Given the description of an element on the screen output the (x, y) to click on. 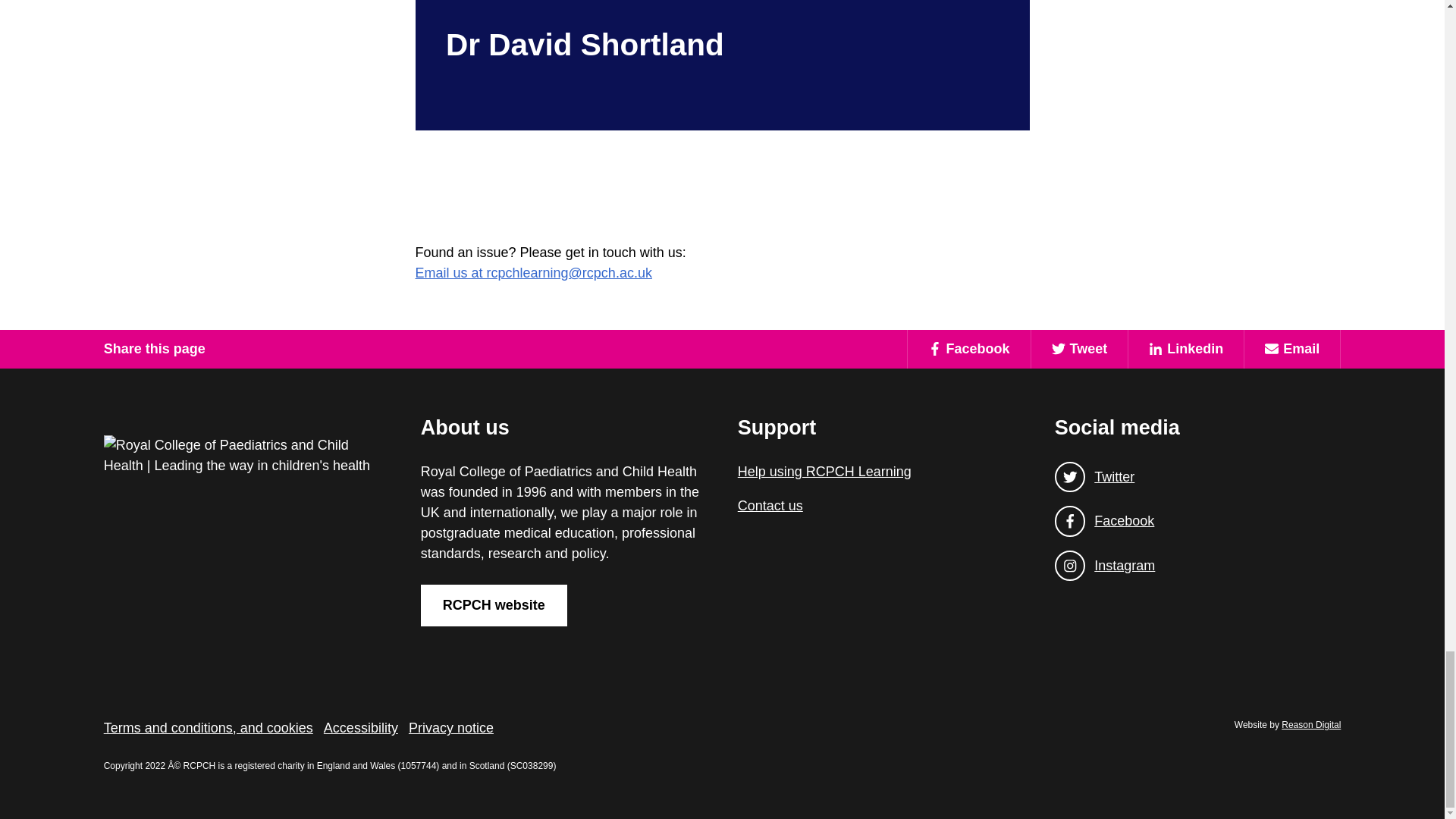
Share on LinkedIn (1184, 349)
Tweet this page (1079, 349)
Share on Facebook (968, 349)
Share via Email (1291, 349)
